Given the description of an element on the screen output the (x, y) to click on. 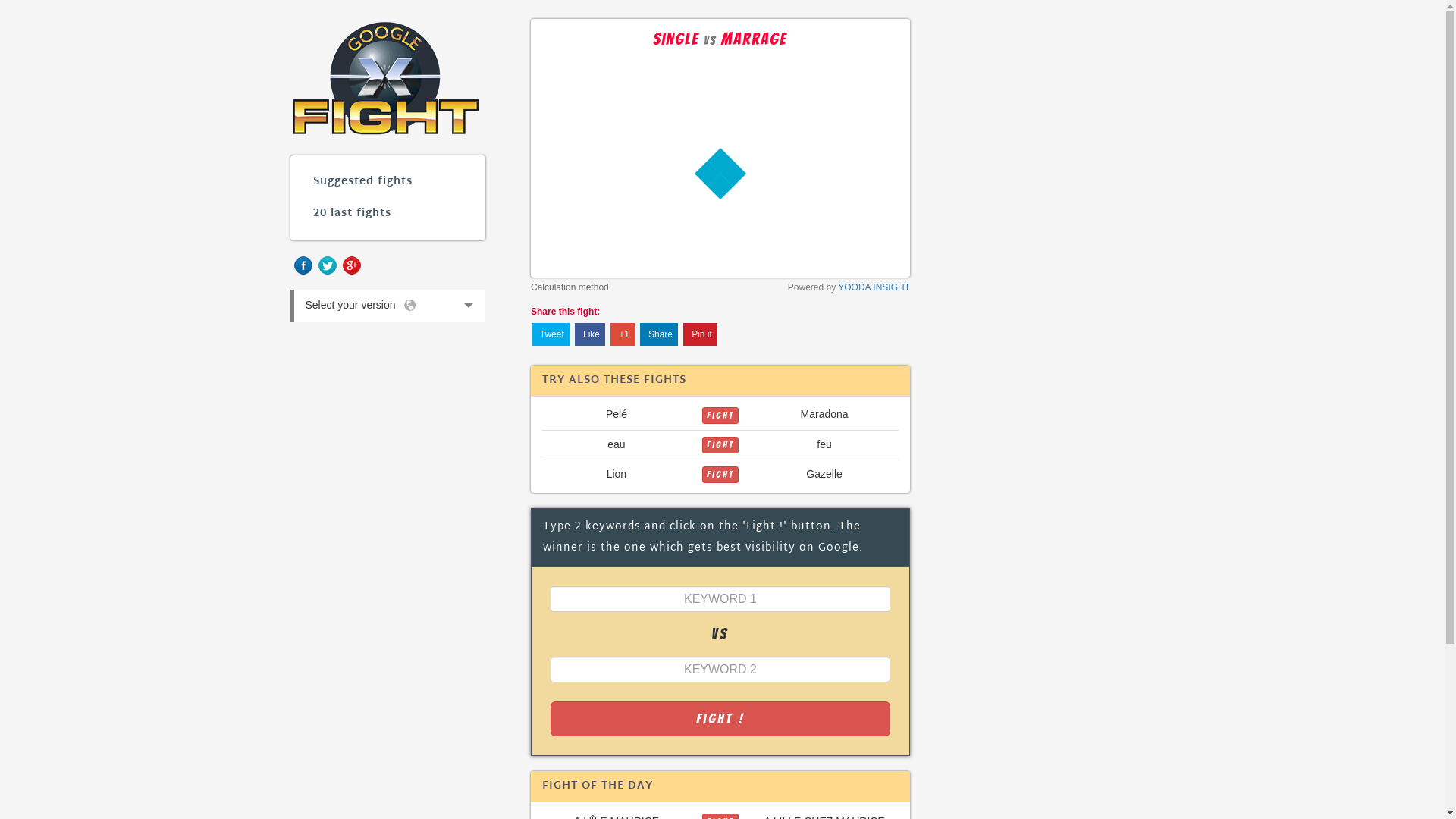
FIGHT Element type: text (720, 415)
FIGHT Element type: text (720, 444)
Tweet Element type: text (550, 334)
FIGHT Element type: text (720, 473)
+1 Element type: text (622, 334)
Advertisement Element type: hover (1054, 245)
FIGHT Element type: text (720, 474)
FIGHT Element type: text (720, 413)
FIGHT Element type: text (720, 444)
Share Element type: text (658, 334)
Pin it Element type: text (700, 334)
Calculation method Element type: text (569, 287)
Suggested fights Element type: text (387, 181)
Like Element type: text (589, 334)
20 last fights Element type: text (387, 213)
Fight ! Element type: text (720, 718)
YOODA INSIGHT Element type: text (873, 287)
